Given the description of an element on the screen output the (x, y) to click on. 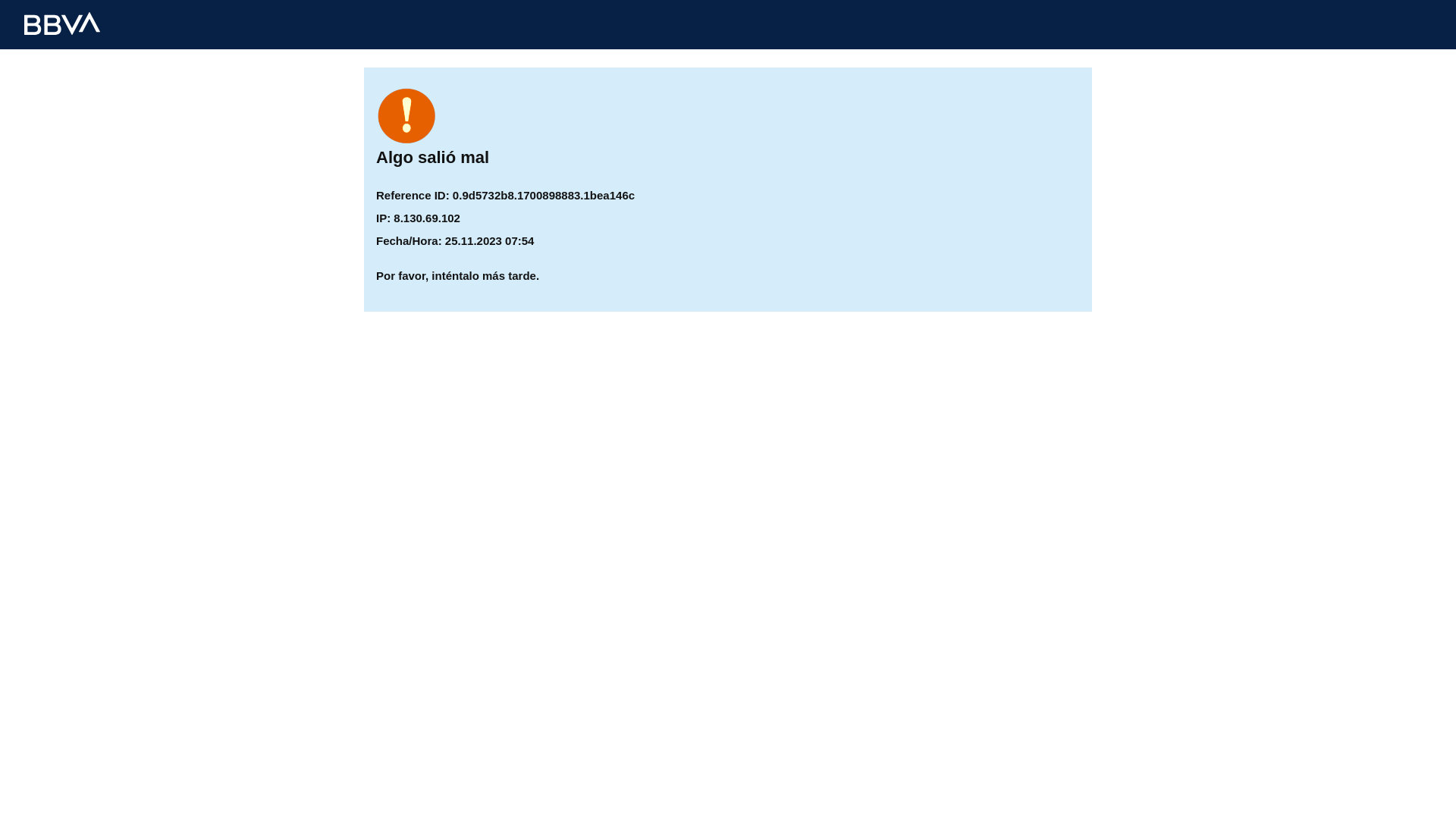
LOGO BBVA Element type: hover (62, 23)
